Given the description of an element on the screen output the (x, y) to click on. 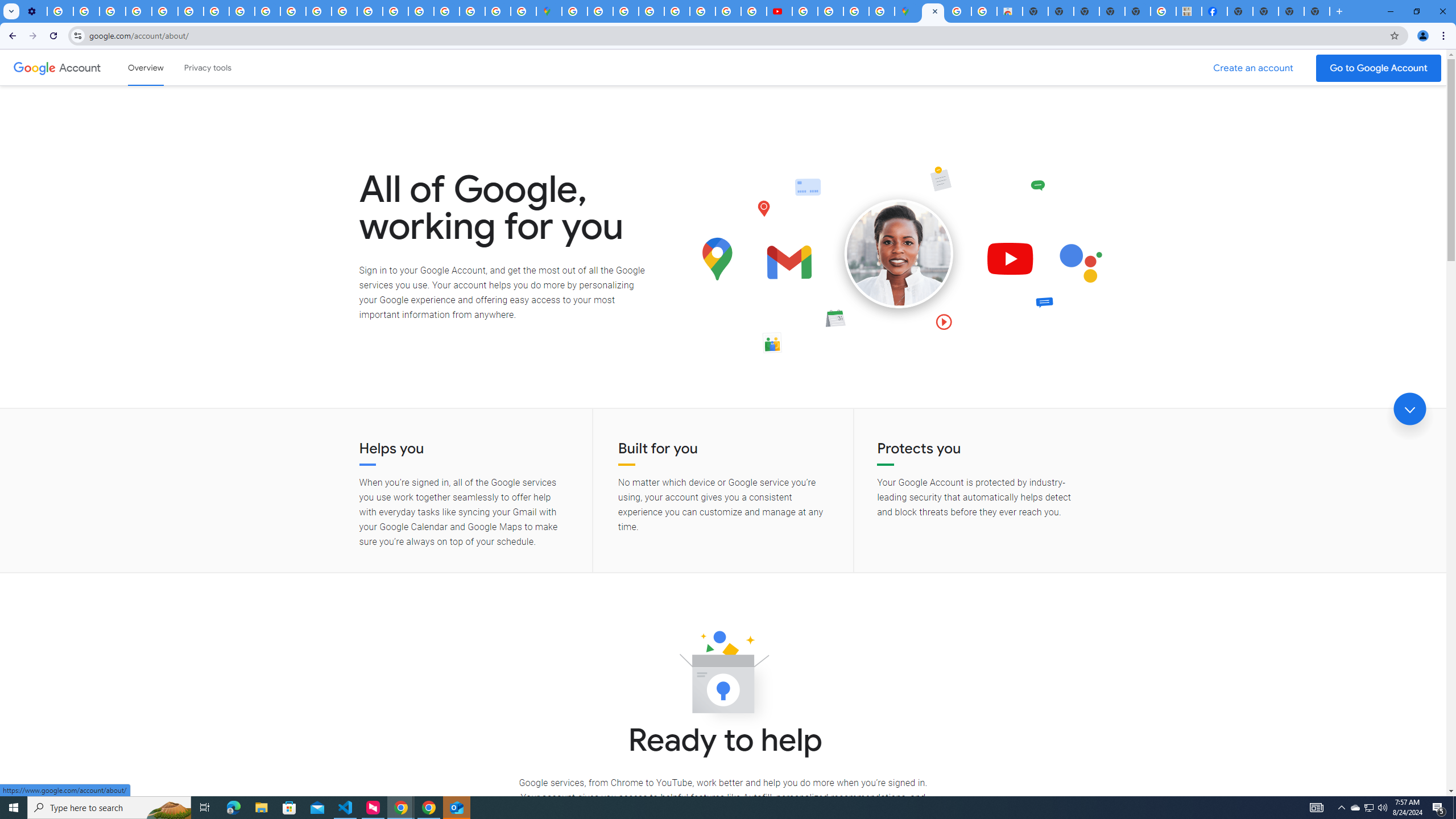
Sign in - Google Accounts (574, 11)
Go to your Google Account (1378, 67)
New Tab (1316, 11)
Google Maps (907, 11)
Privacy Help Center - Policies Help (727, 11)
